Given the description of an element on the screen output the (x, y) to click on. 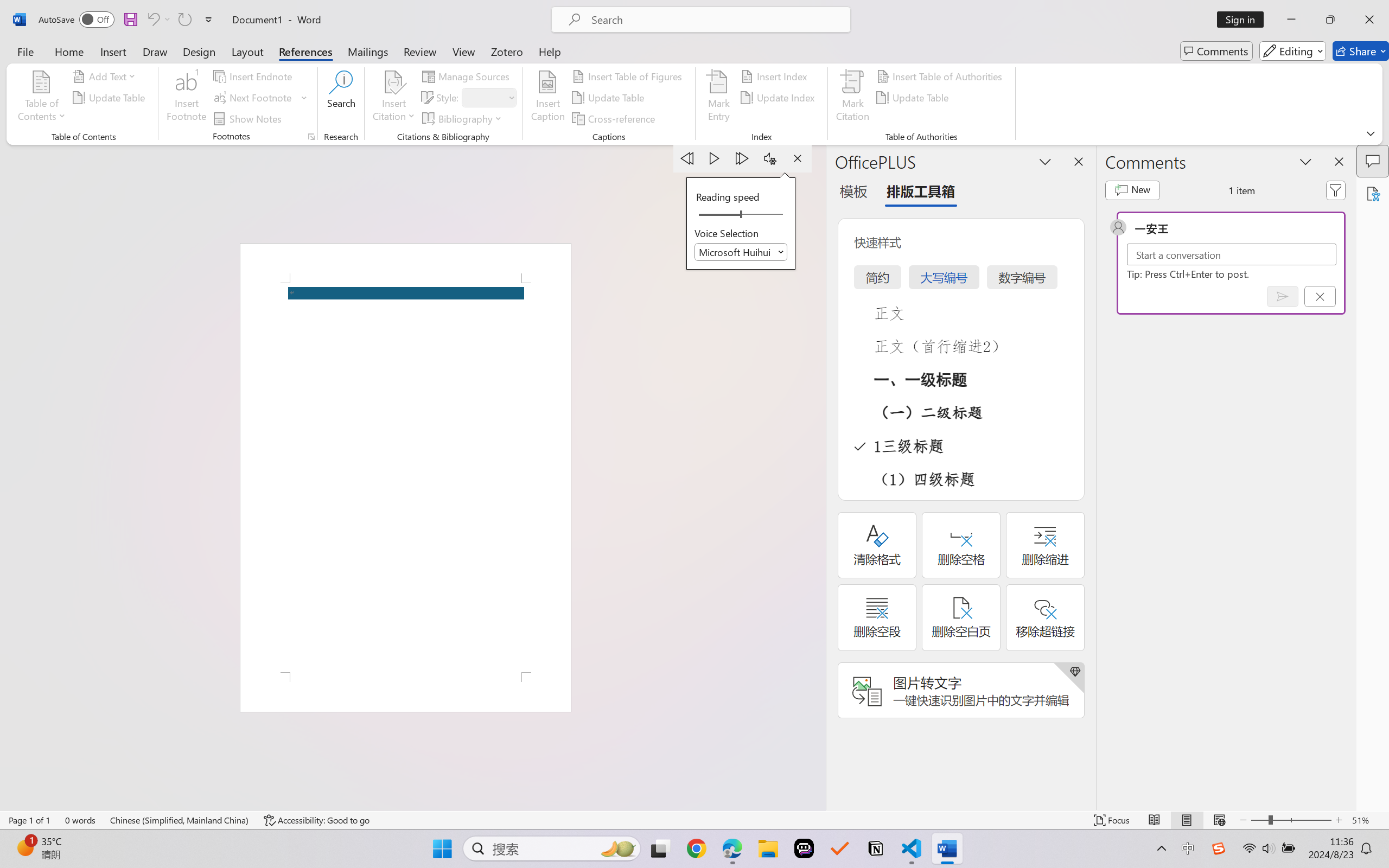
Start a conversation (1231, 254)
Search (341, 97)
Next Paragraph (743, 158)
